Given the description of an element on the screen output the (x, y) to click on. 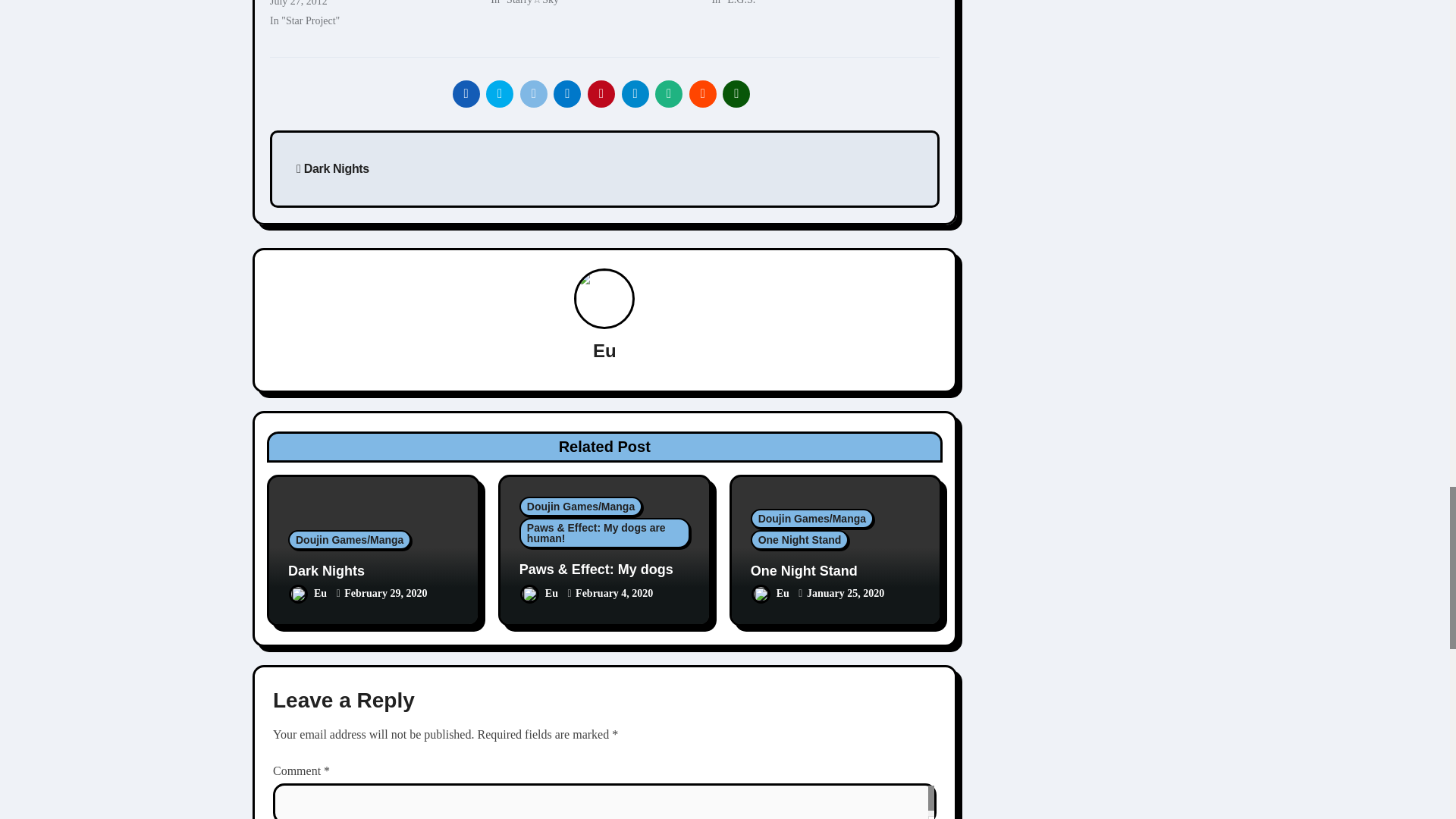
Permalink to: Dark Nights (326, 570)
